Given the description of an element on the screen output the (x, y) to click on. 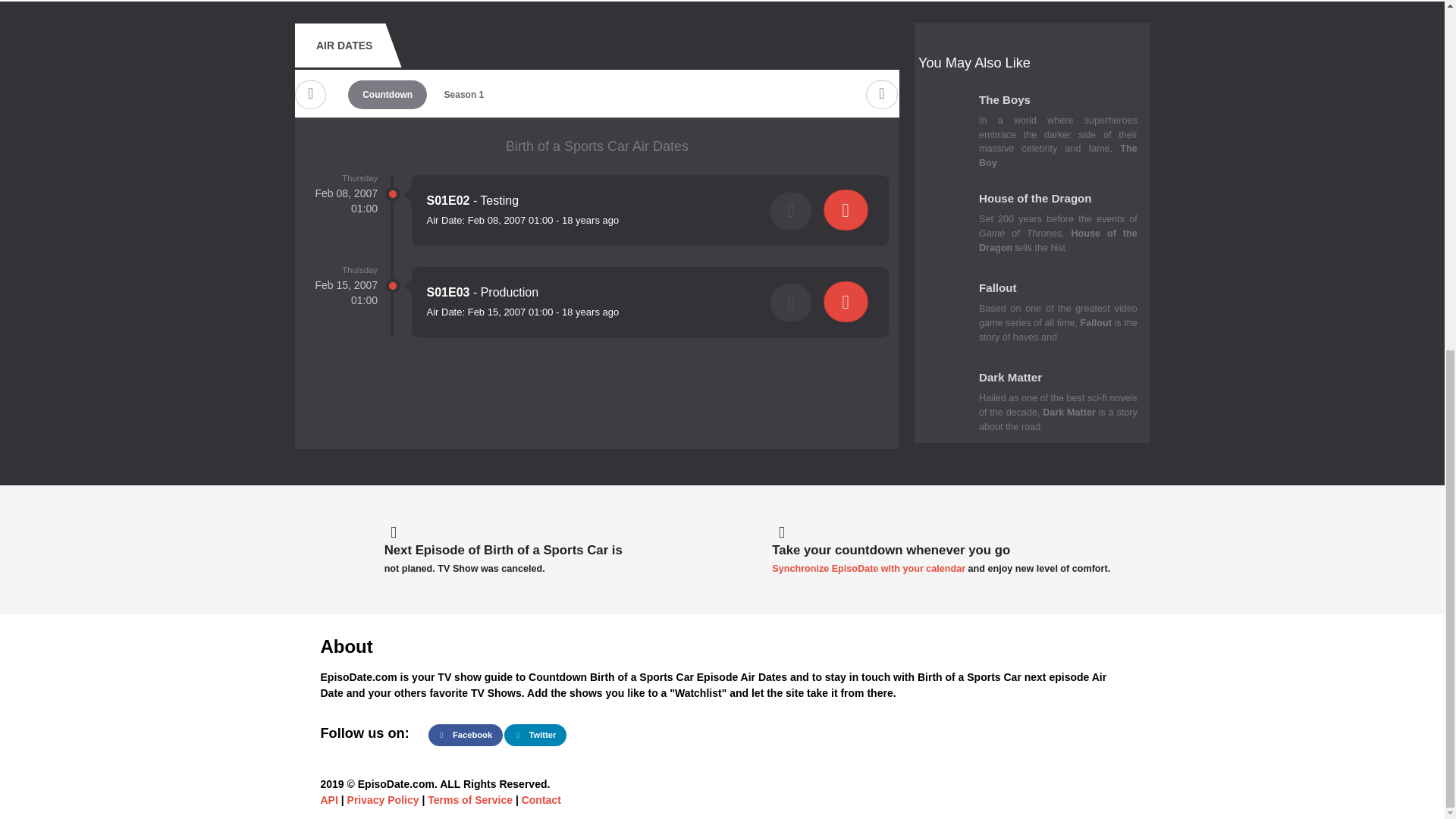
Season 1 (463, 94)
Countdown (386, 94)
AIR DATES (344, 45)
